Given the description of an element on the screen output the (x, y) to click on. 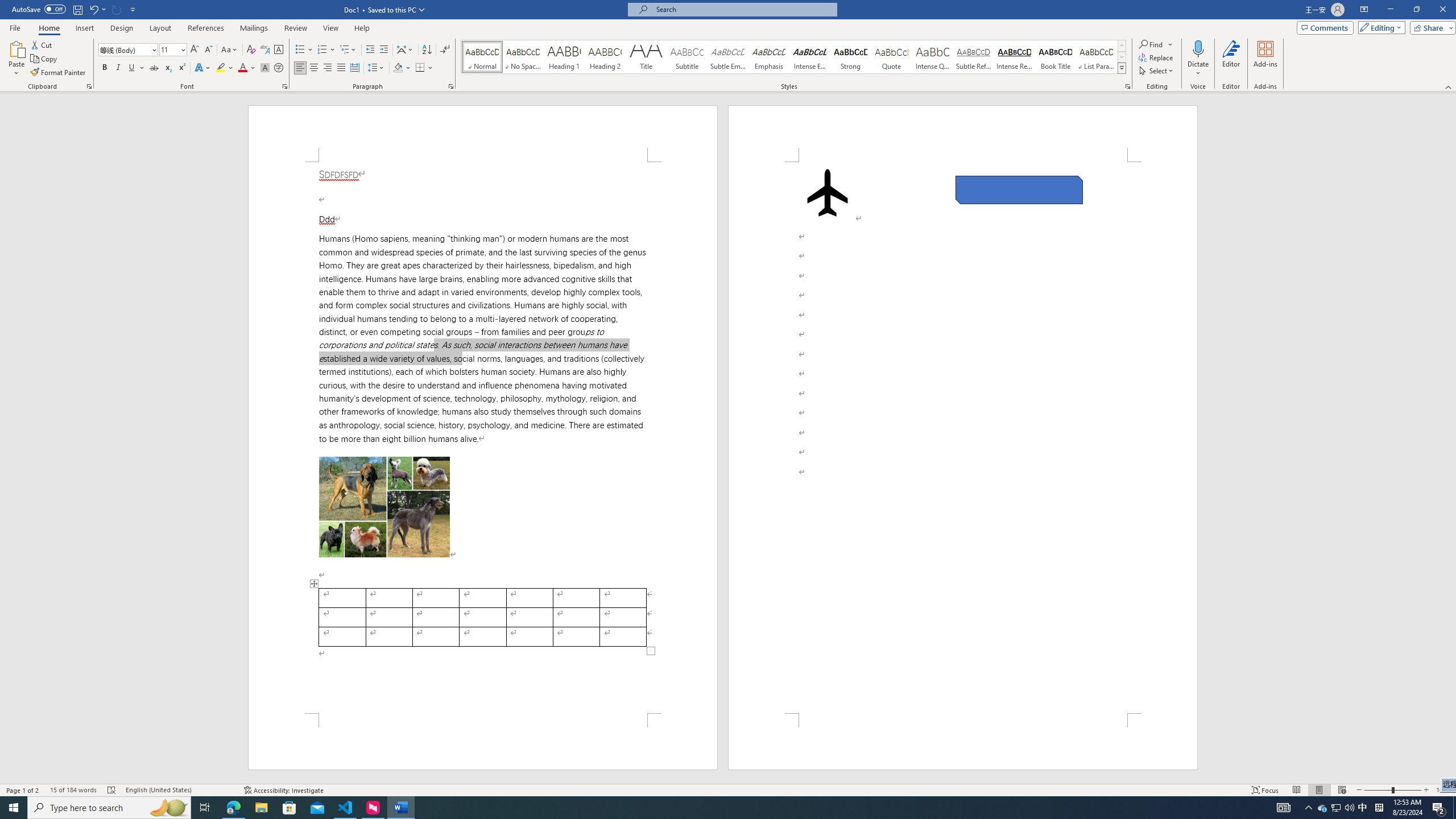
Align Right (327, 67)
Page 1 content (482, 437)
Center (313, 67)
Line and Paragraph Spacing (376, 67)
Font Color RGB(255, 0, 0) (241, 67)
Class: MsoCommandBar (728, 45)
Language English (United States) (178, 790)
Sort... (426, 49)
Decrease Indent (370, 49)
